Given the description of an element on the screen output the (x, y) to click on. 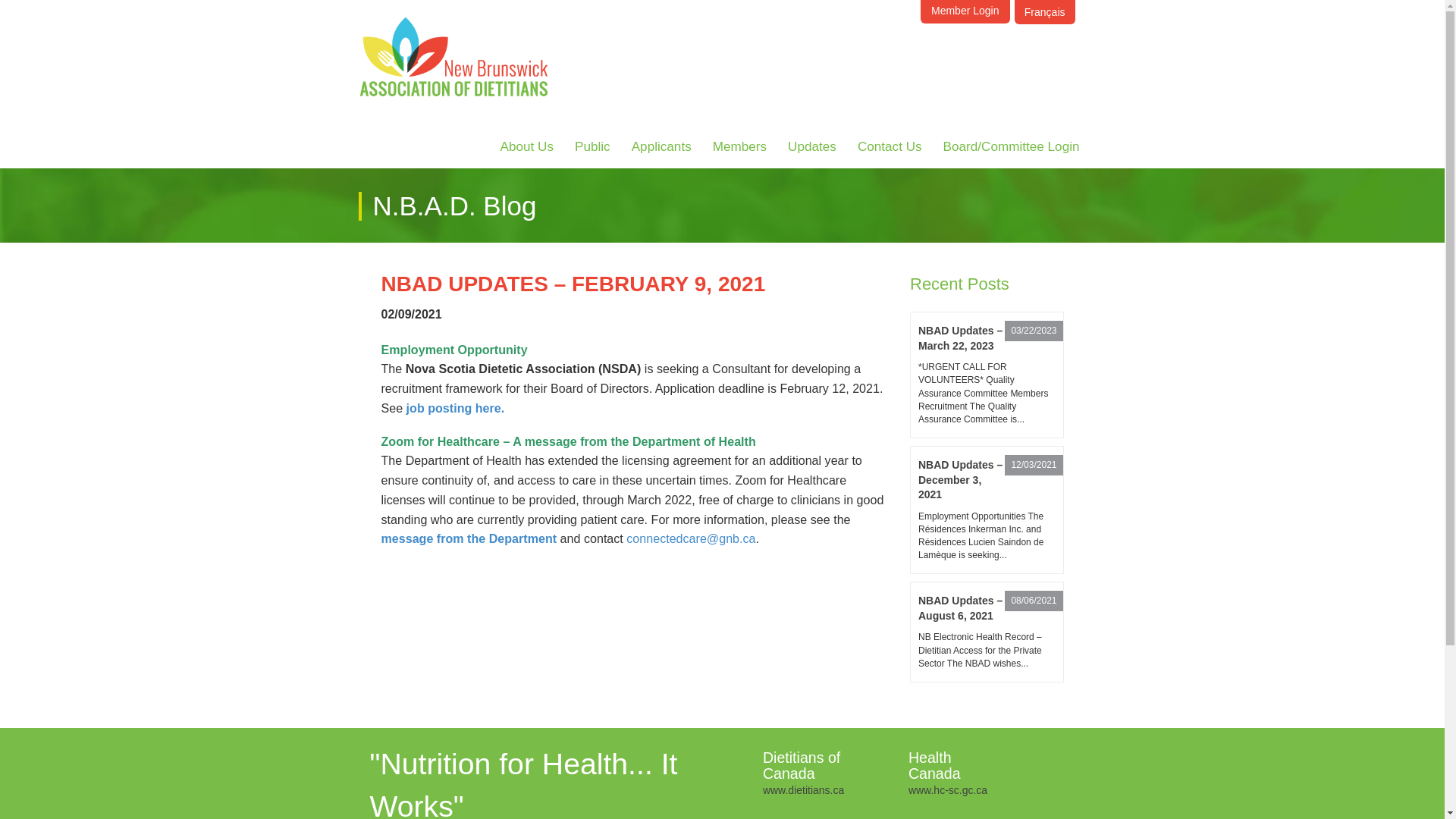
Applicants (661, 145)
Public (592, 145)
Members (739, 145)
About Us (526, 145)
